Given the description of an element on the screen output the (x, y) to click on. 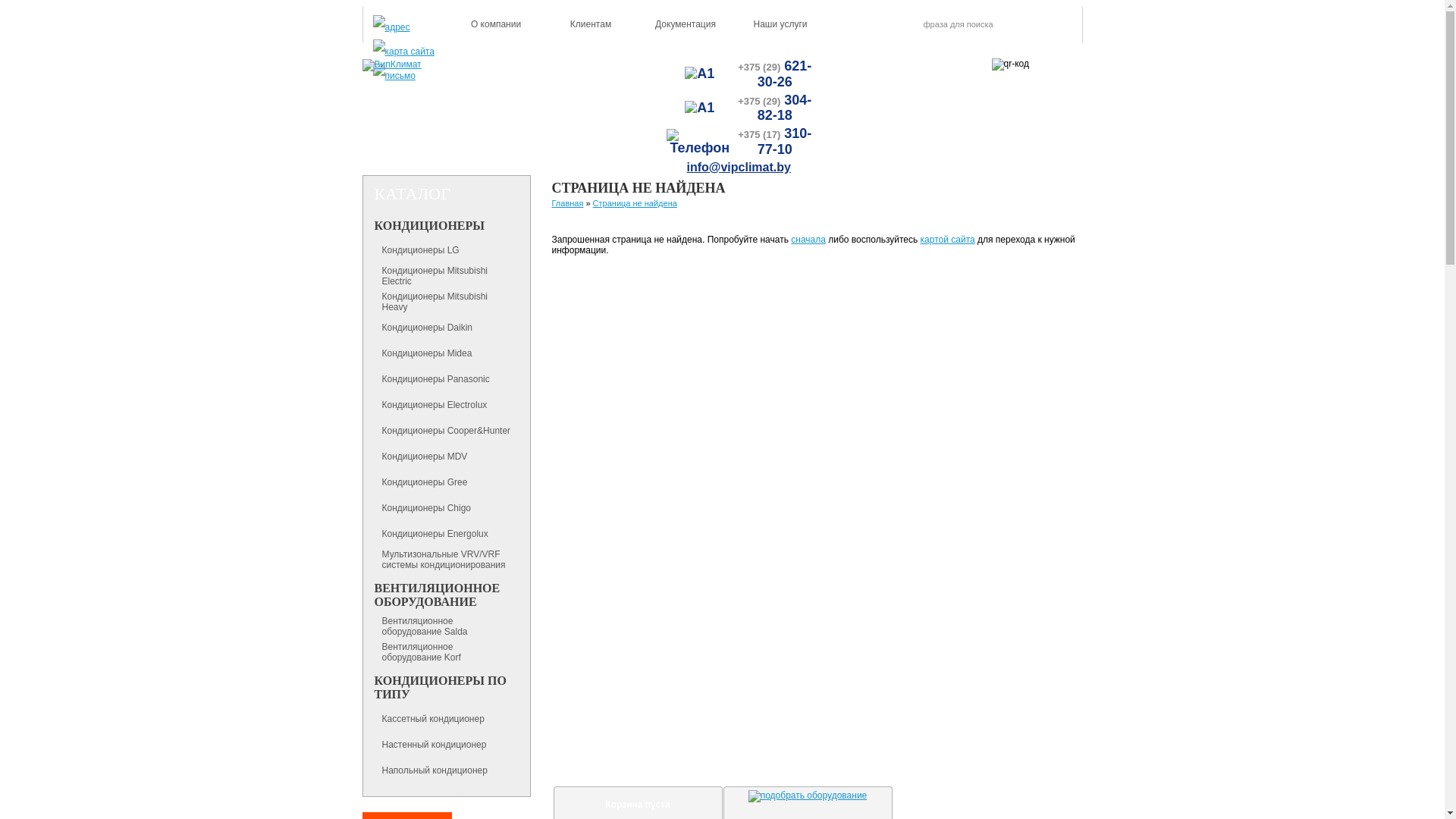
304-82-18 Element type: text (784, 107)
info@vipclimat.by Element type: text (738, 166)
621-30-26 Element type: text (784, 73)
A1 Element type: hover (699, 108)
